Given the description of an element on the screen output the (x, y) to click on. 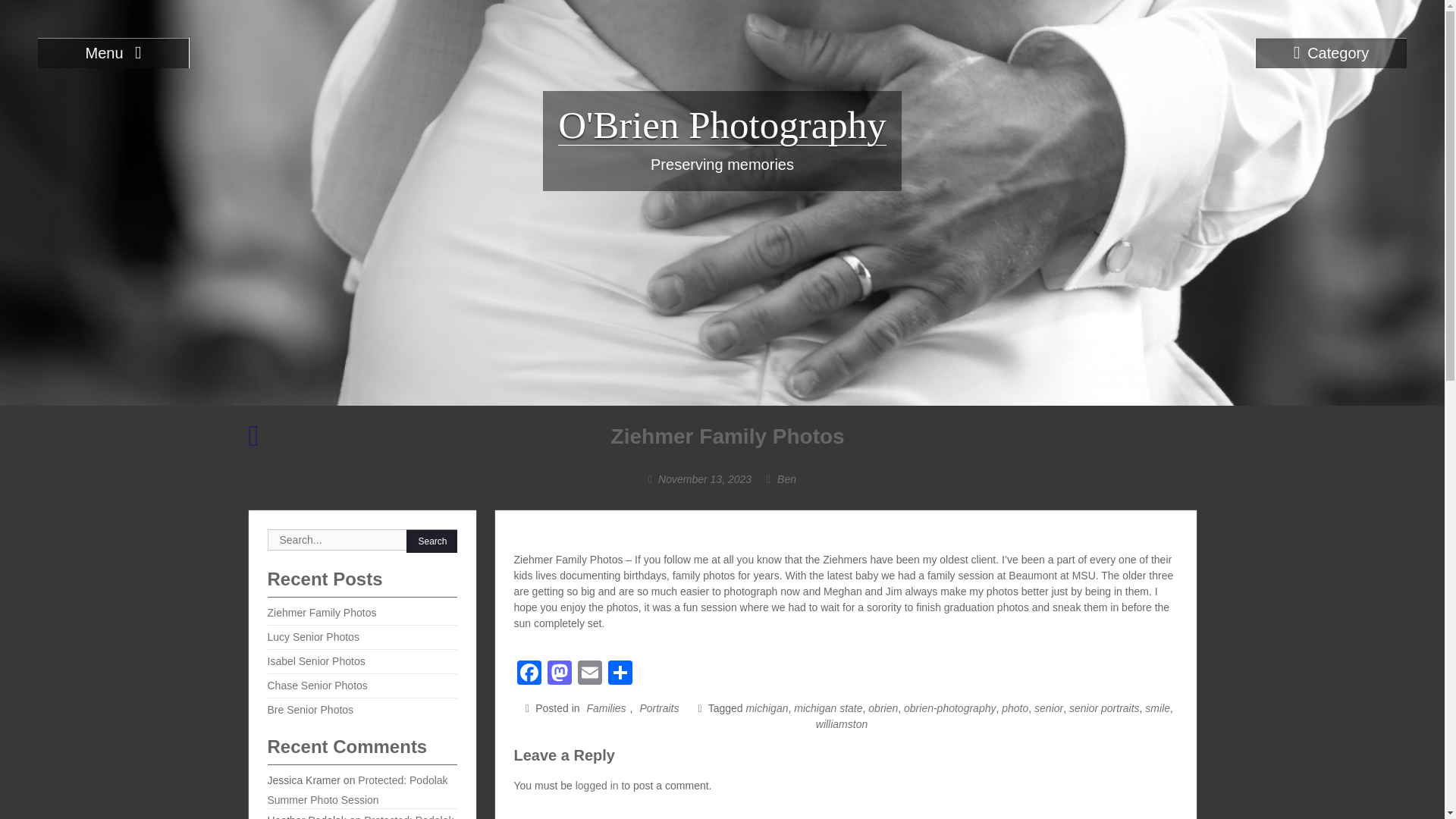
November 13, 2023 (704, 479)
Email (590, 674)
Facebook (528, 674)
Search (432, 540)
Search (432, 540)
Menu (113, 52)
Category (1330, 52)
Mastodon (559, 674)
Lucy Senior Photos (253, 441)
